Given the description of an element on the screen output the (x, y) to click on. 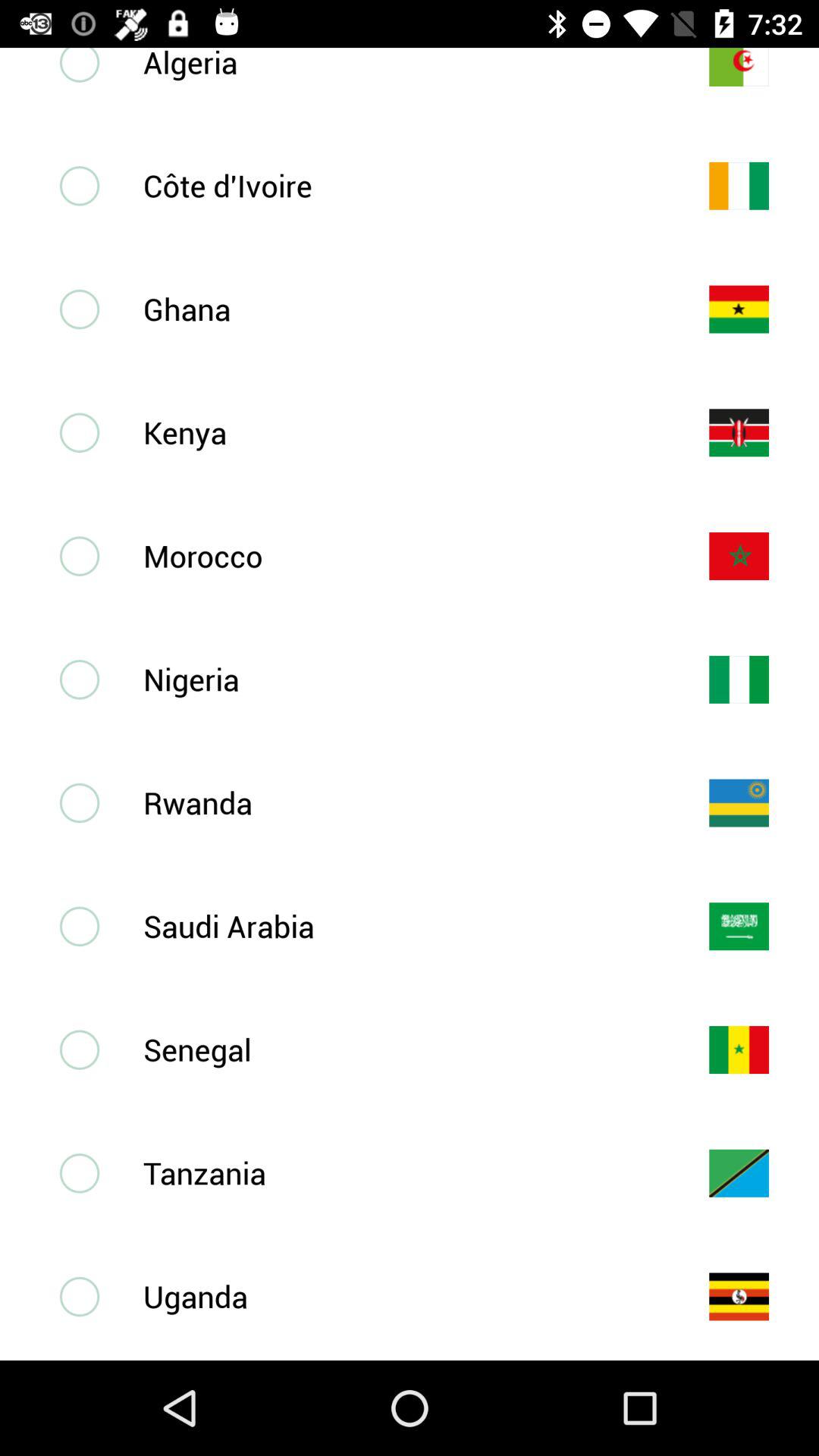
open rwanda icon (401, 802)
